Given the description of an element on the screen output the (x, y) to click on. 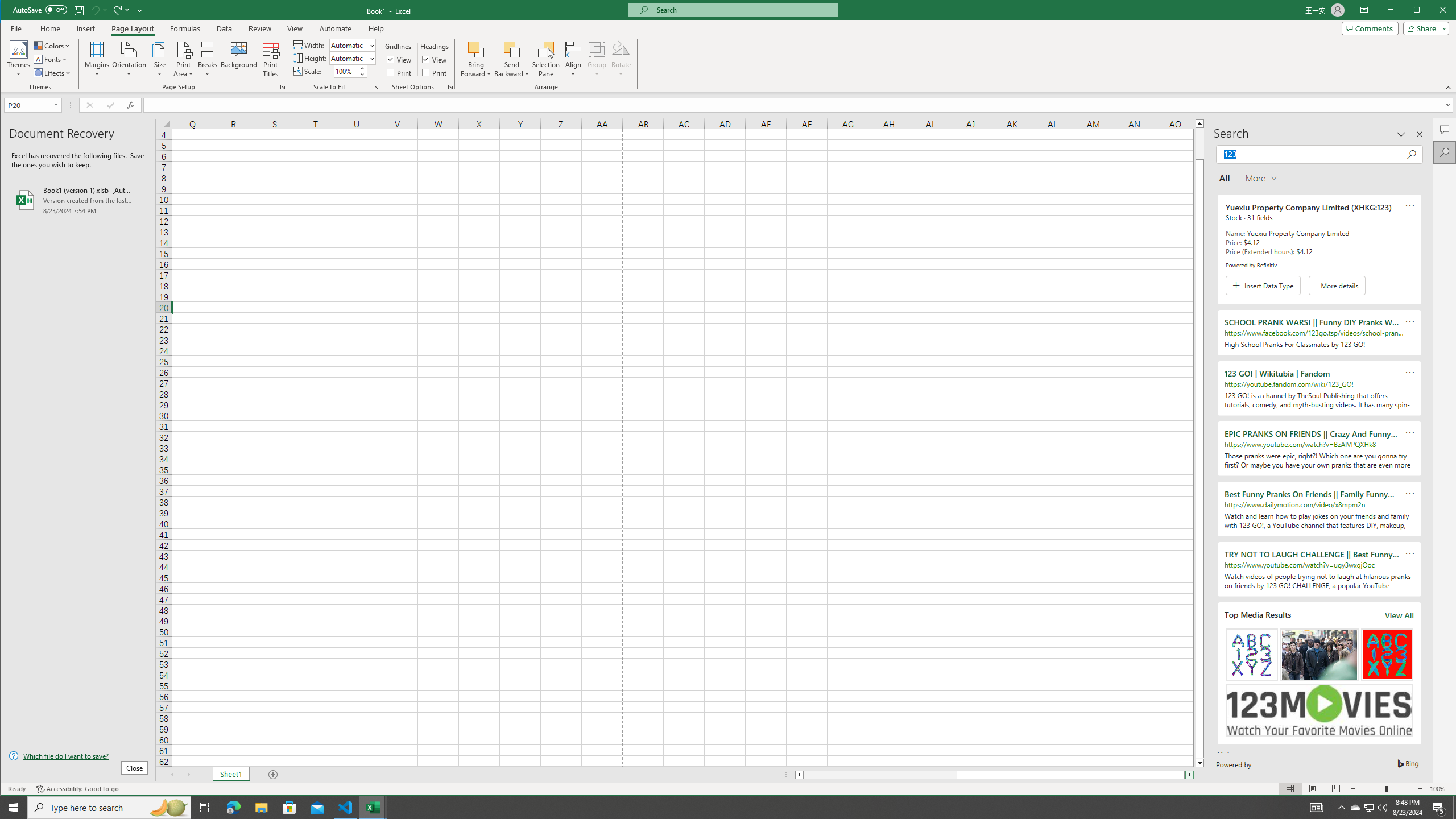
Align (573, 59)
Close (1445, 11)
Height (352, 57)
Background... (239, 59)
Colors (53, 45)
Page left (879, 774)
Which file do I want to save? (78, 755)
Column left (798, 774)
Visual Studio Code - 1 running window (345, 807)
Maximize (1432, 11)
Ribbon Display Options (1364, 9)
Send Backward (512, 48)
Comments (1369, 28)
